Given the description of an element on the screen output the (x, y) to click on. 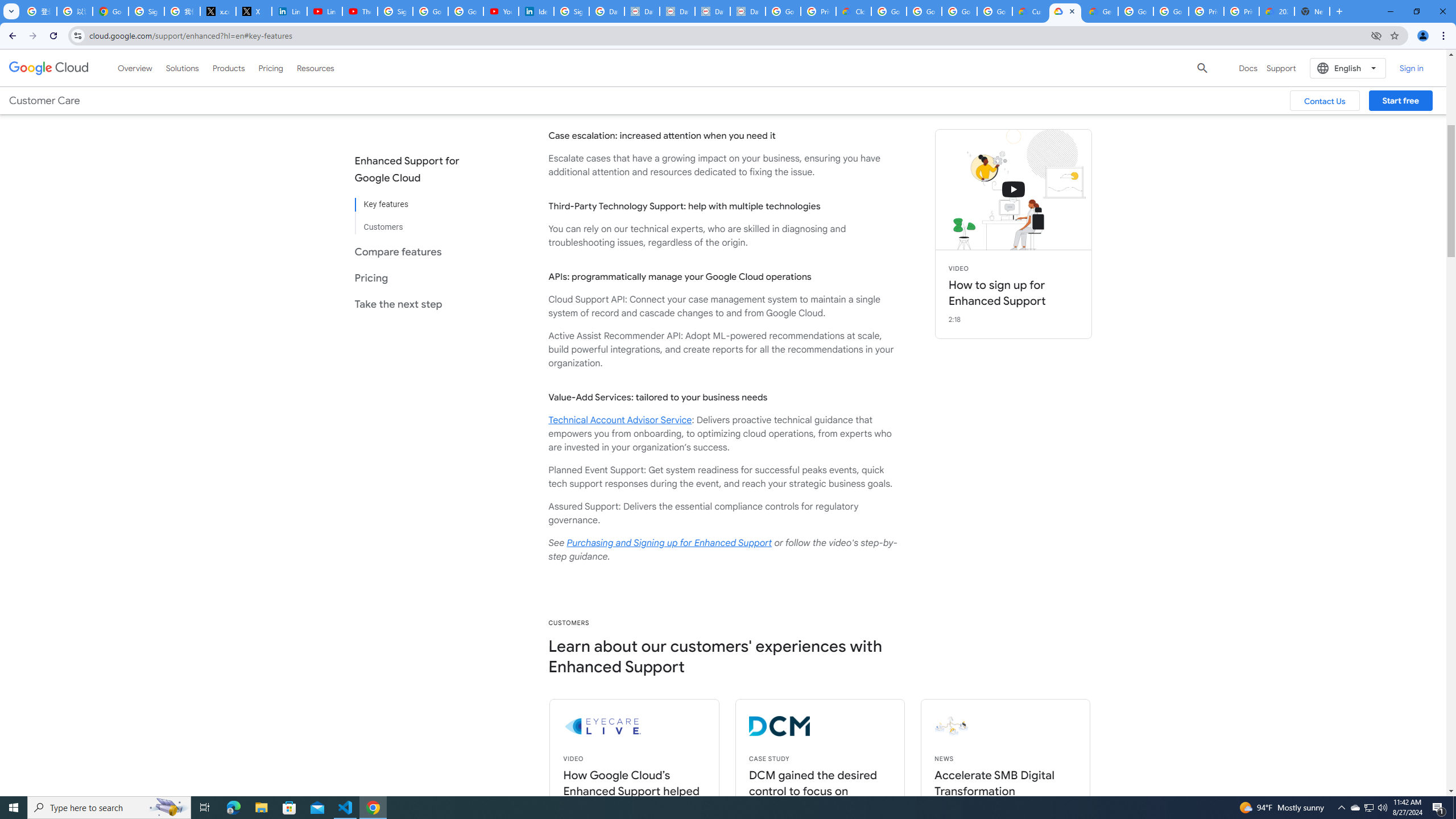
connecting with support (1013, 189)
Gemini for Business and Developers | Google Cloud (1099, 11)
Google Cloud Platform (1170, 11)
Support (1280, 67)
New Tab (1312, 11)
X (253, 11)
Technical Account Advisor Service (619, 419)
